Given the description of an element on the screen output the (x, y) to click on. 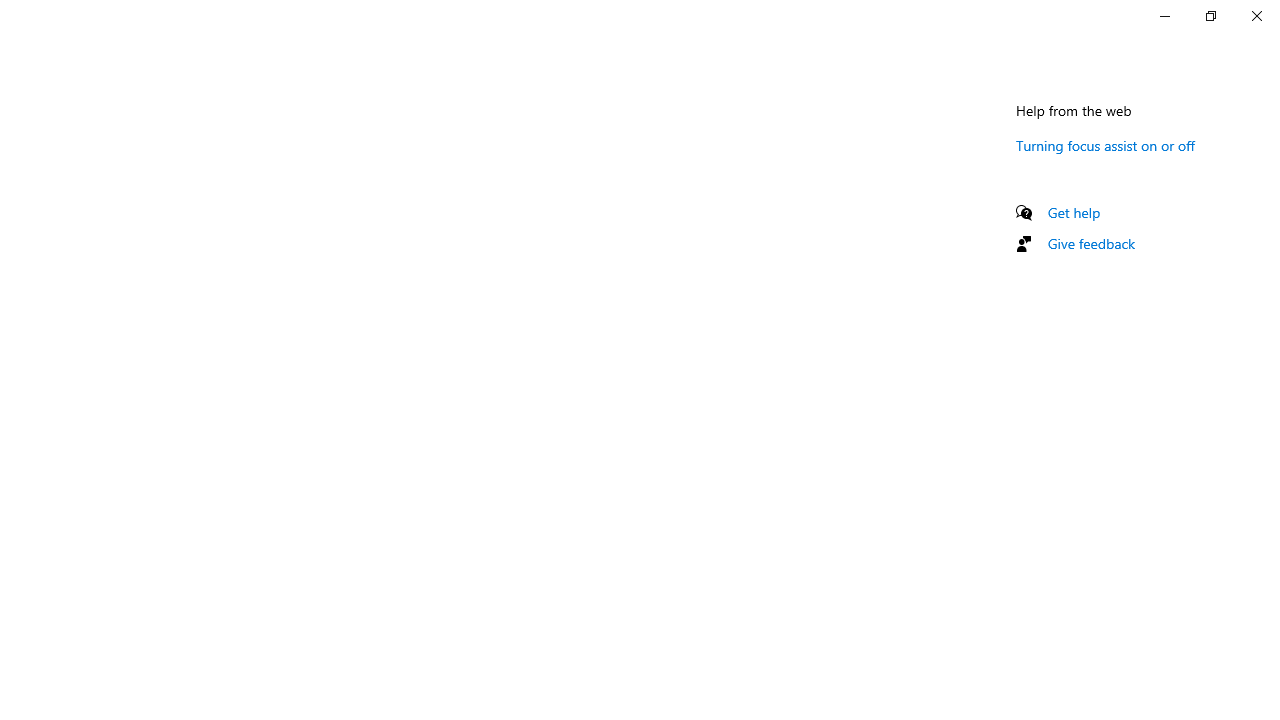
Restore Settings (1210, 15)
Give feedback (1091, 243)
Minimize Settings (1164, 15)
Turning focus assist on or off (1105, 145)
Close Settings (1256, 15)
Get help (1074, 212)
